Given the description of an element on the screen output the (x, y) to click on. 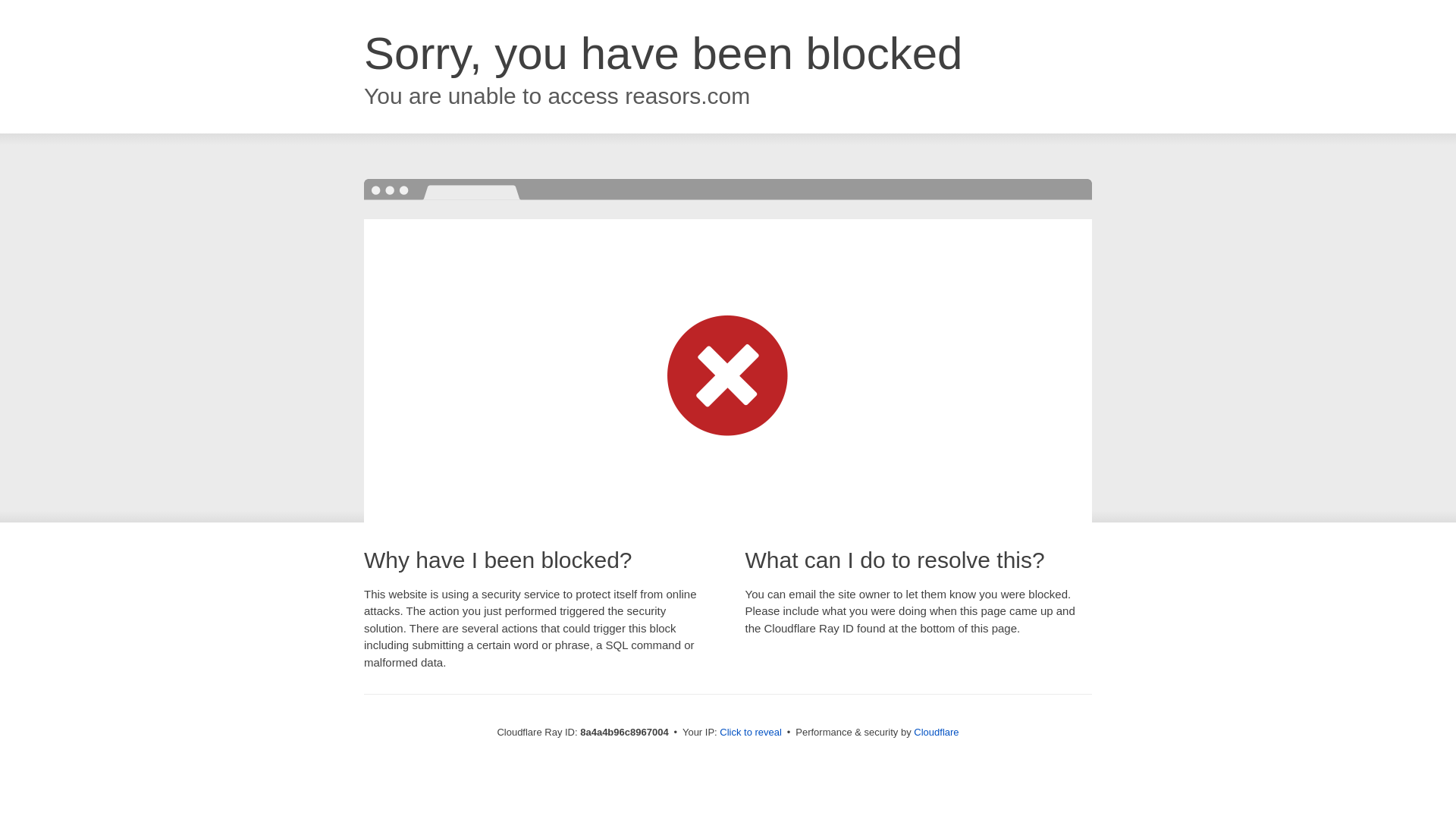
Cloudflare (936, 731)
Click to reveal (750, 732)
